Given the description of an element on the screen output the (x, y) to click on. 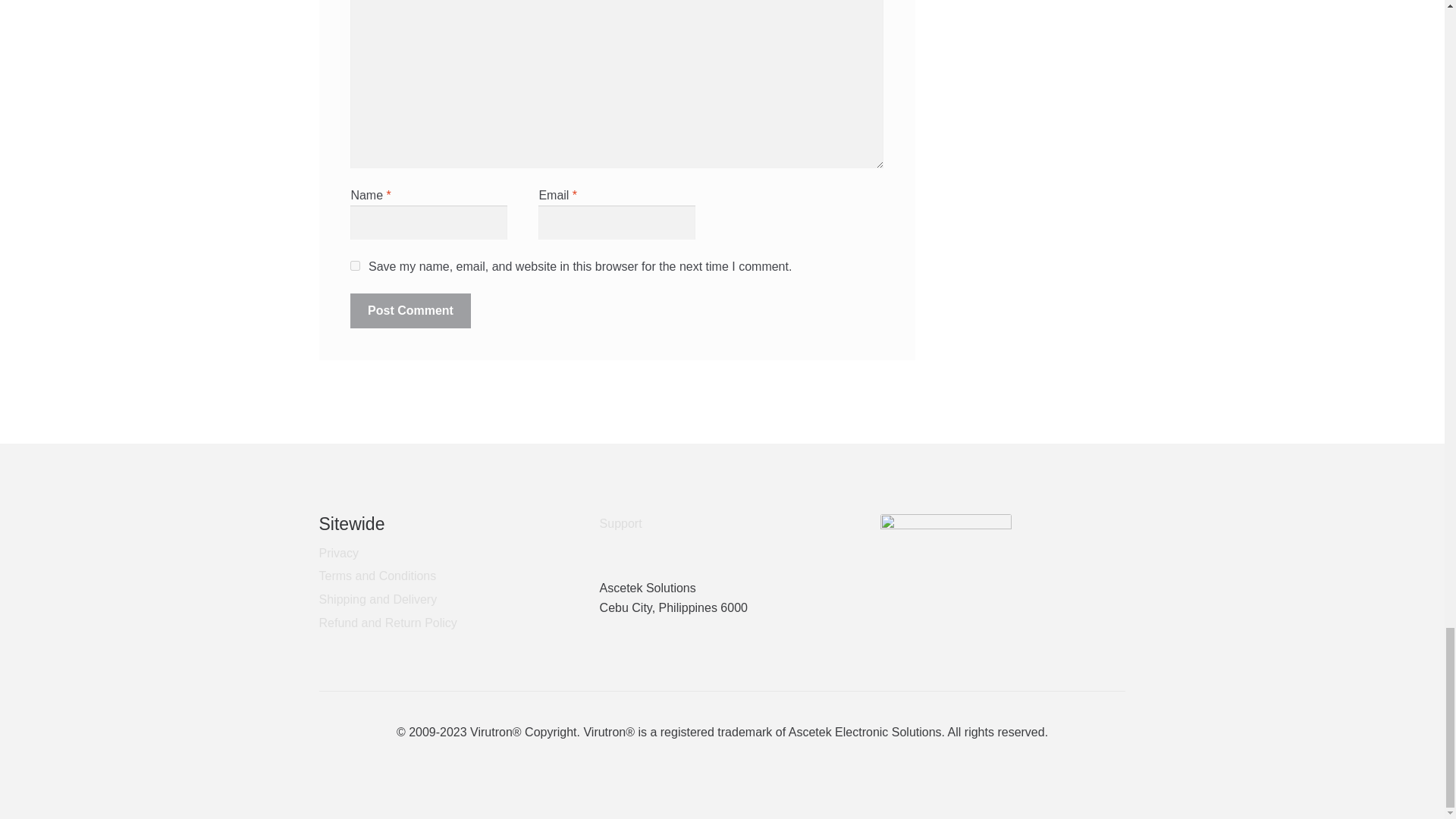
Post Comment (410, 310)
yes (354, 266)
